Given the description of an element on the screen output the (x, y) to click on. 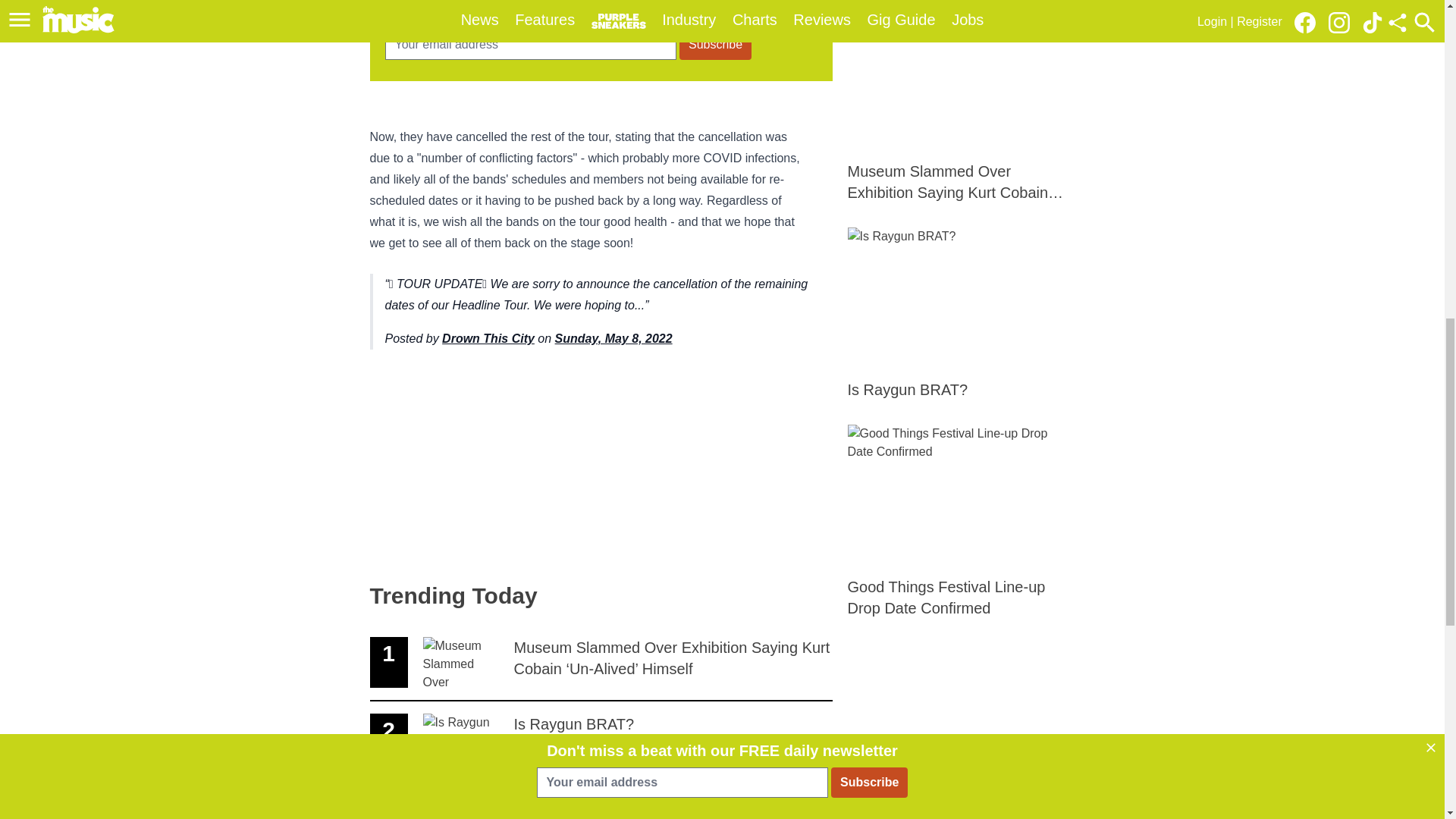
Is Raygun BRAT? (961, 313)
Subscribe (715, 44)
Sunday, May 8, 2022 (600, 798)
Good Things Festival Line-up Drop Date Confirmed (613, 338)
Drown This City (600, 739)
